Given the description of an element on the screen output the (x, y) to click on. 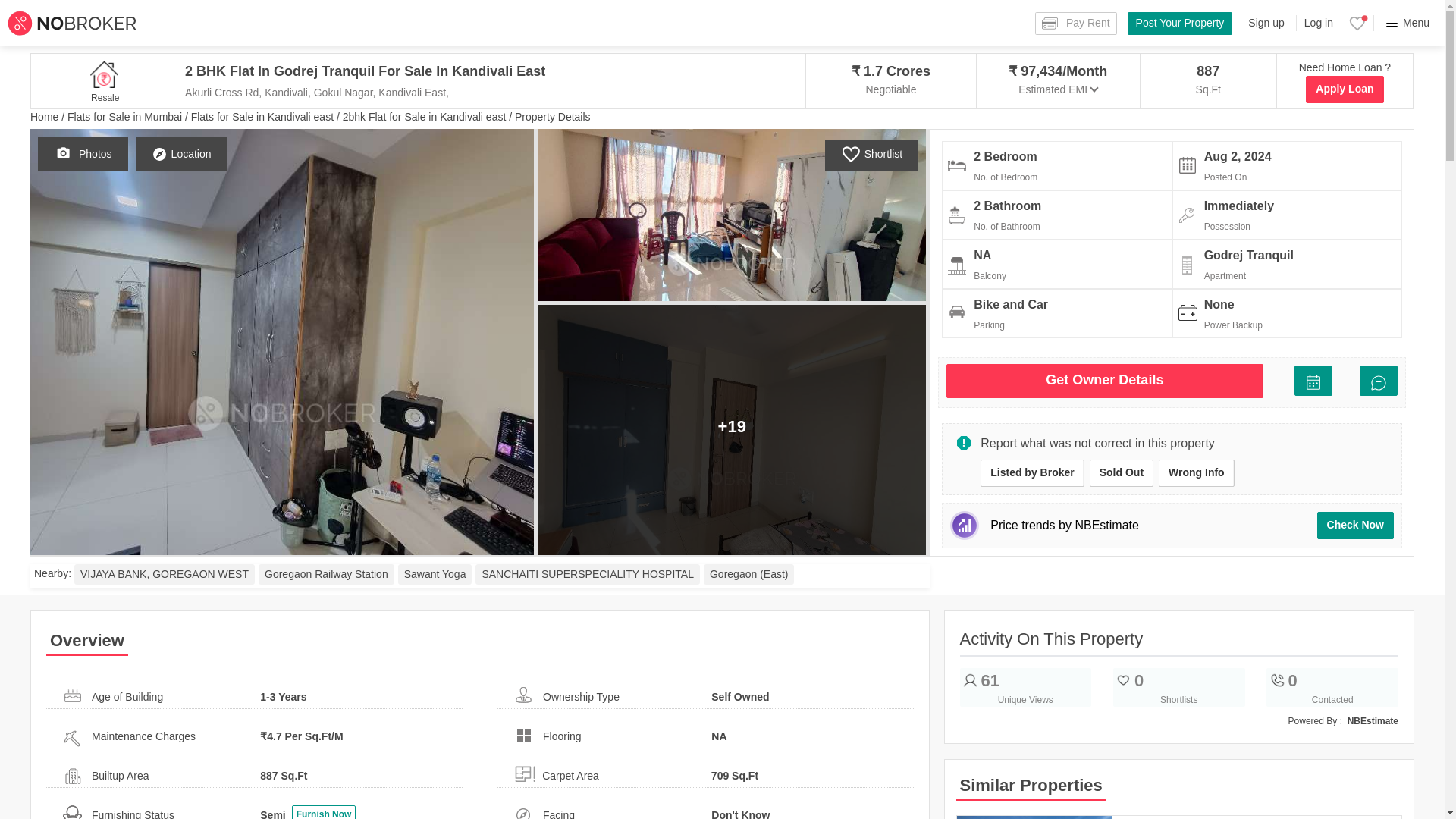
Furnish Now (324, 812)
2 BHK Flat In Godrej Tranquil For Sale  In Kandivali East (384, 71)
VIJAYA BANK, GOREGAON WEST (164, 574)
Goregaon Railway Station (326, 574)
Sawant Yoga (434, 574)
Post Your Property (1179, 23)
Apply Loan (1344, 89)
SANCHAITI SUPERSPECIALITY HOSPITAL (588, 574)
Listed by Broker (1031, 472)
Check Now (1355, 524)
